Given the description of an element on the screen output the (x, y) to click on. 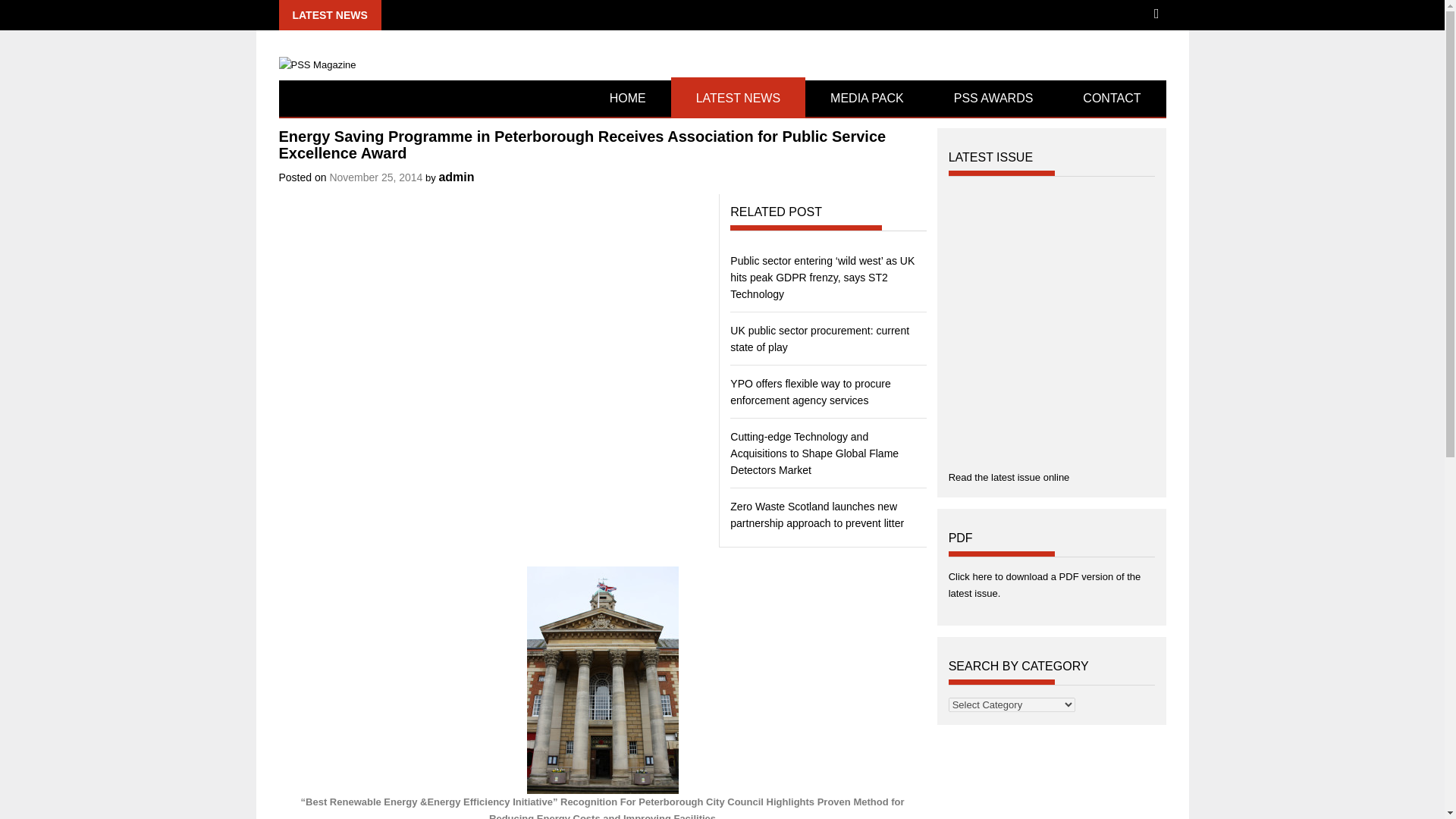
UK public sector procurement: current state of play (819, 338)
MEDIA PACK (866, 98)
Click here to download a PDF version of the latest issue. (1045, 584)
admin (456, 176)
UK public sector procurement: current state of play (819, 338)
November 25, 2014 (375, 177)
LATEST NEWS (738, 98)
